Given the description of an element on the screen output the (x, y) to click on. 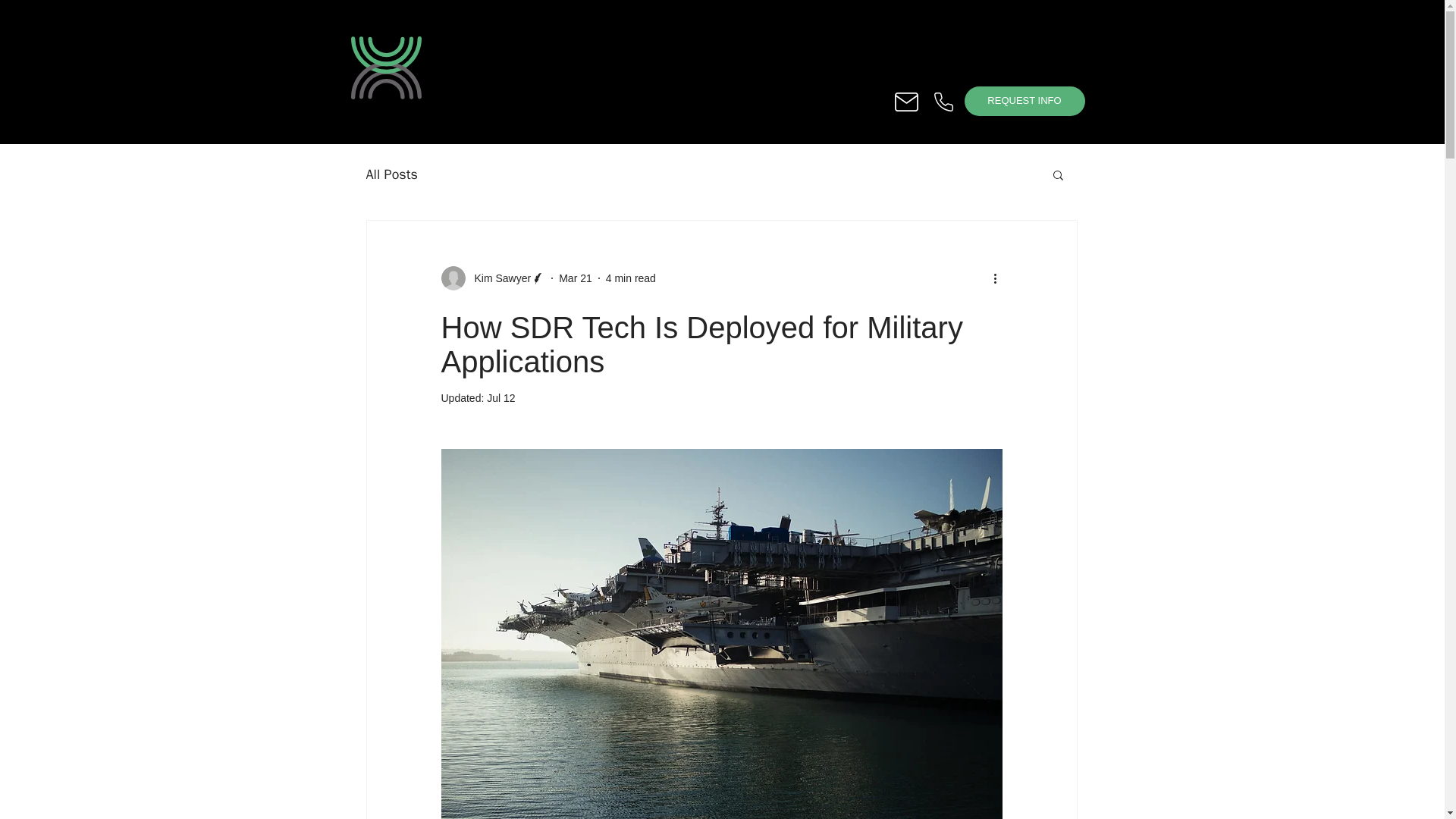
REQUEST INFO (1023, 101)
All Posts (390, 174)
Mar 21 (575, 277)
Kim Sawyer (498, 277)
Kim Sawyer (493, 278)
4 min read (630, 277)
Jul 12 (500, 398)
